Given the description of an element on the screen output the (x, y) to click on. 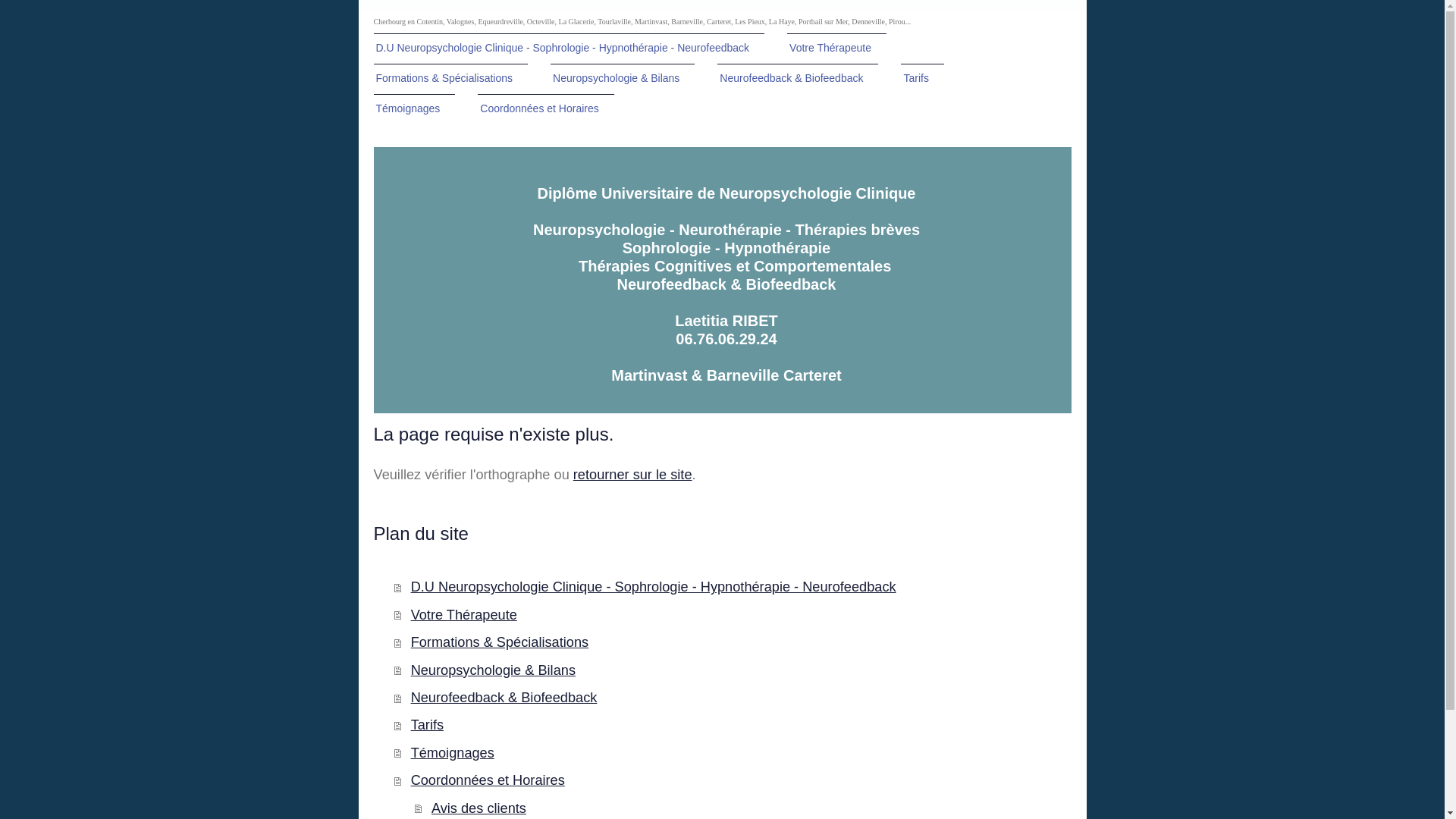
Neuropsychologie & Bilans Element type: text (622, 78)
Tarifs Element type: text (732, 724)
Neuropsychologie & Bilans Element type: text (732, 670)
Neurofeedback & Biofeedback Element type: text (732, 697)
Tarifs Element type: text (921, 78)
retourner sur le site Element type: text (632, 474)
Neurofeedback & Biofeedback Element type: text (797, 78)
